Given the description of an element on the screen output the (x, y) to click on. 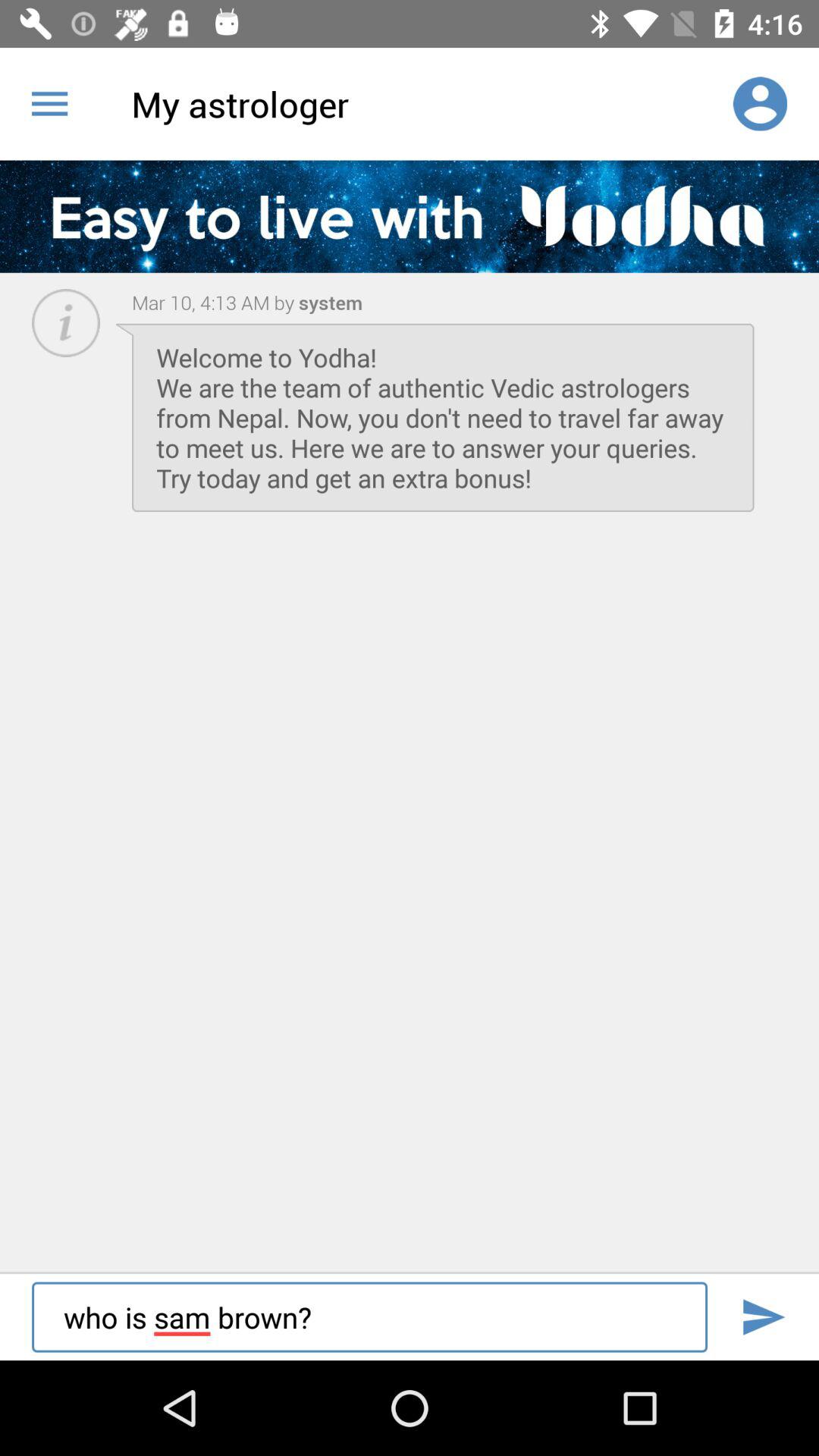
tap the item below mar 10 4 item (442, 417)
